Given the description of an element on the screen output the (x, y) to click on. 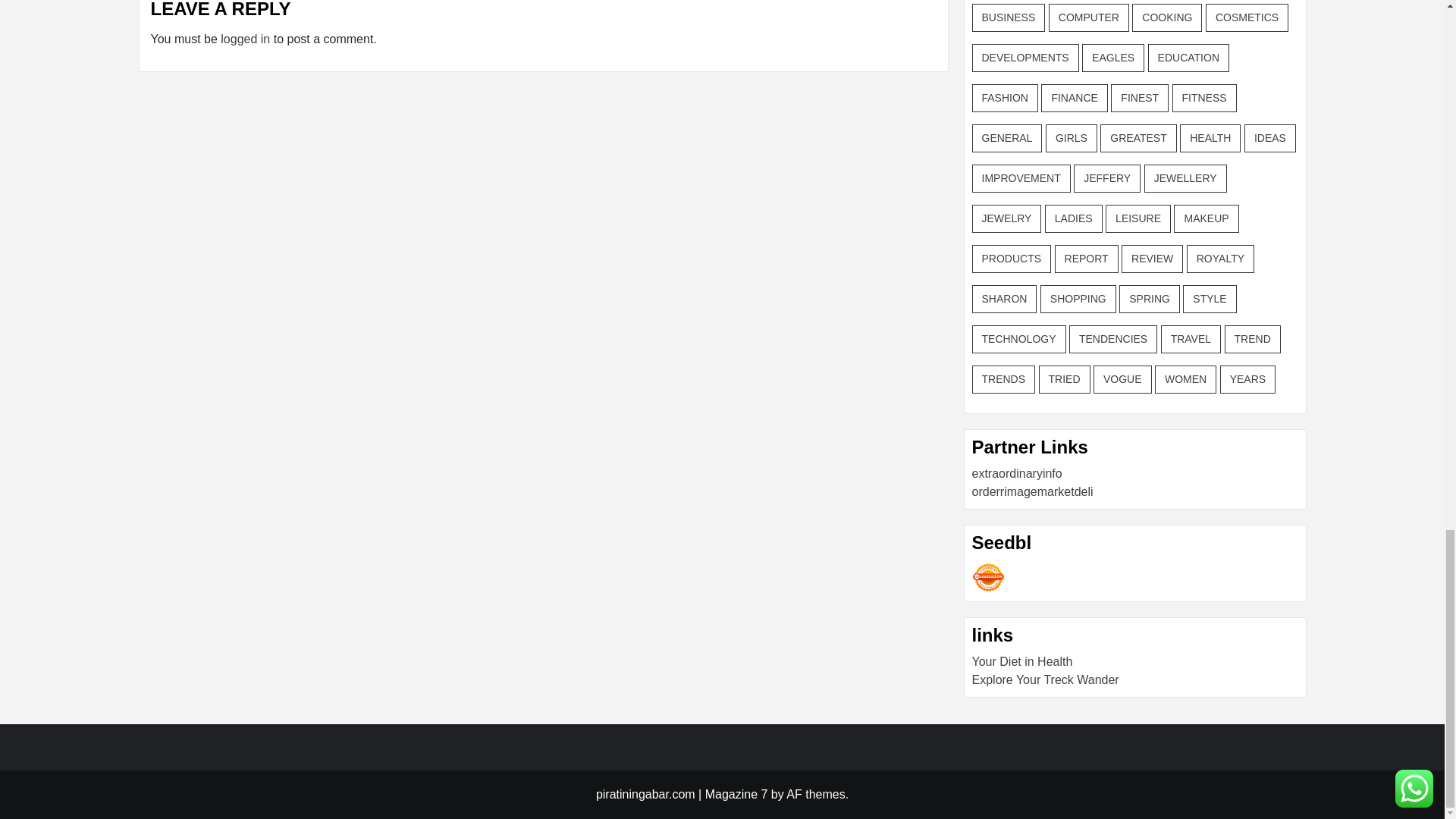
logged in (245, 38)
Seedbacklink (988, 577)
